Given the description of an element on the screen output the (x, y) to click on. 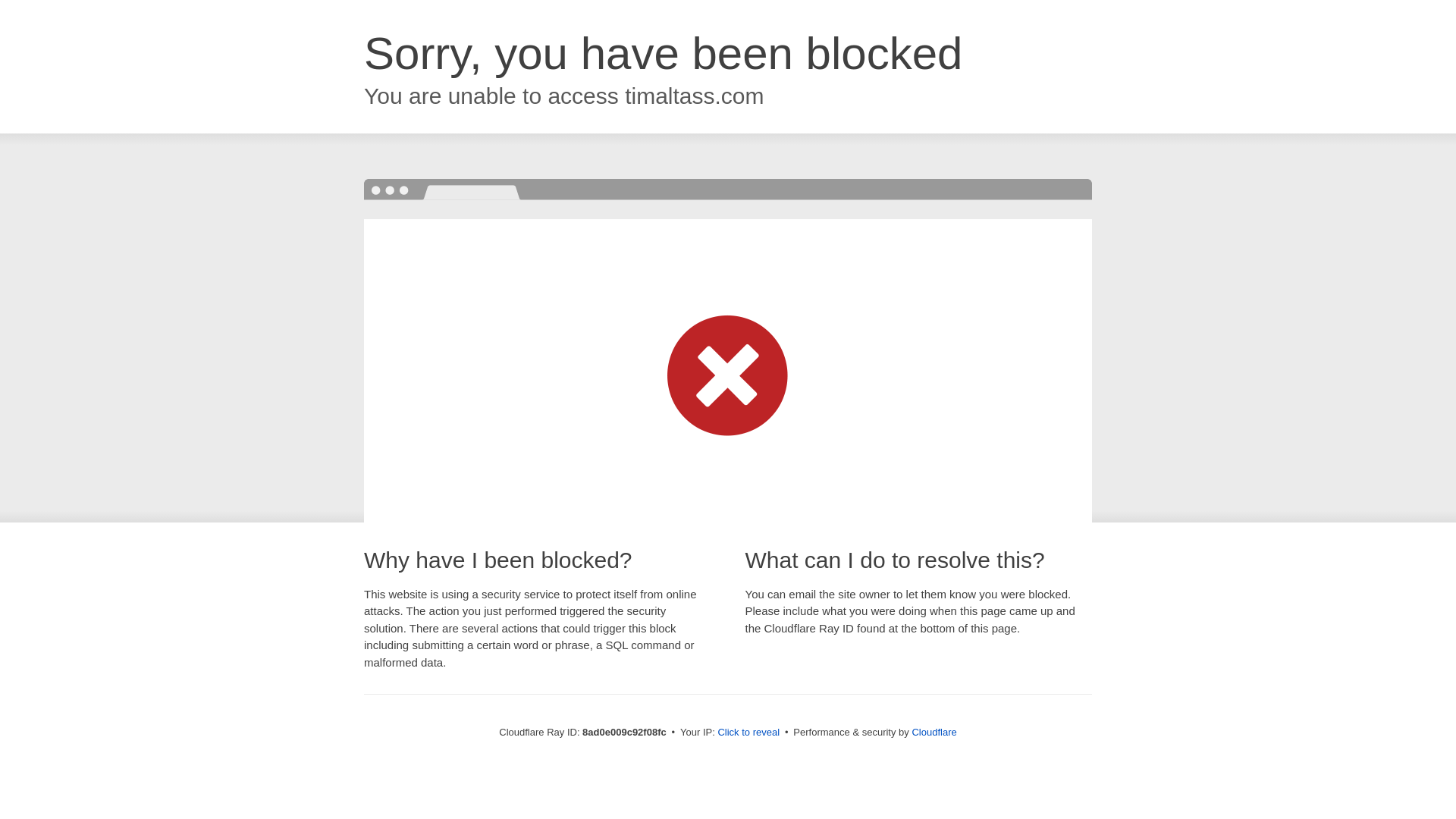
Click to reveal (747, 732)
Cloudflare (933, 731)
